Given the description of an element on the screen output the (x, y) to click on. 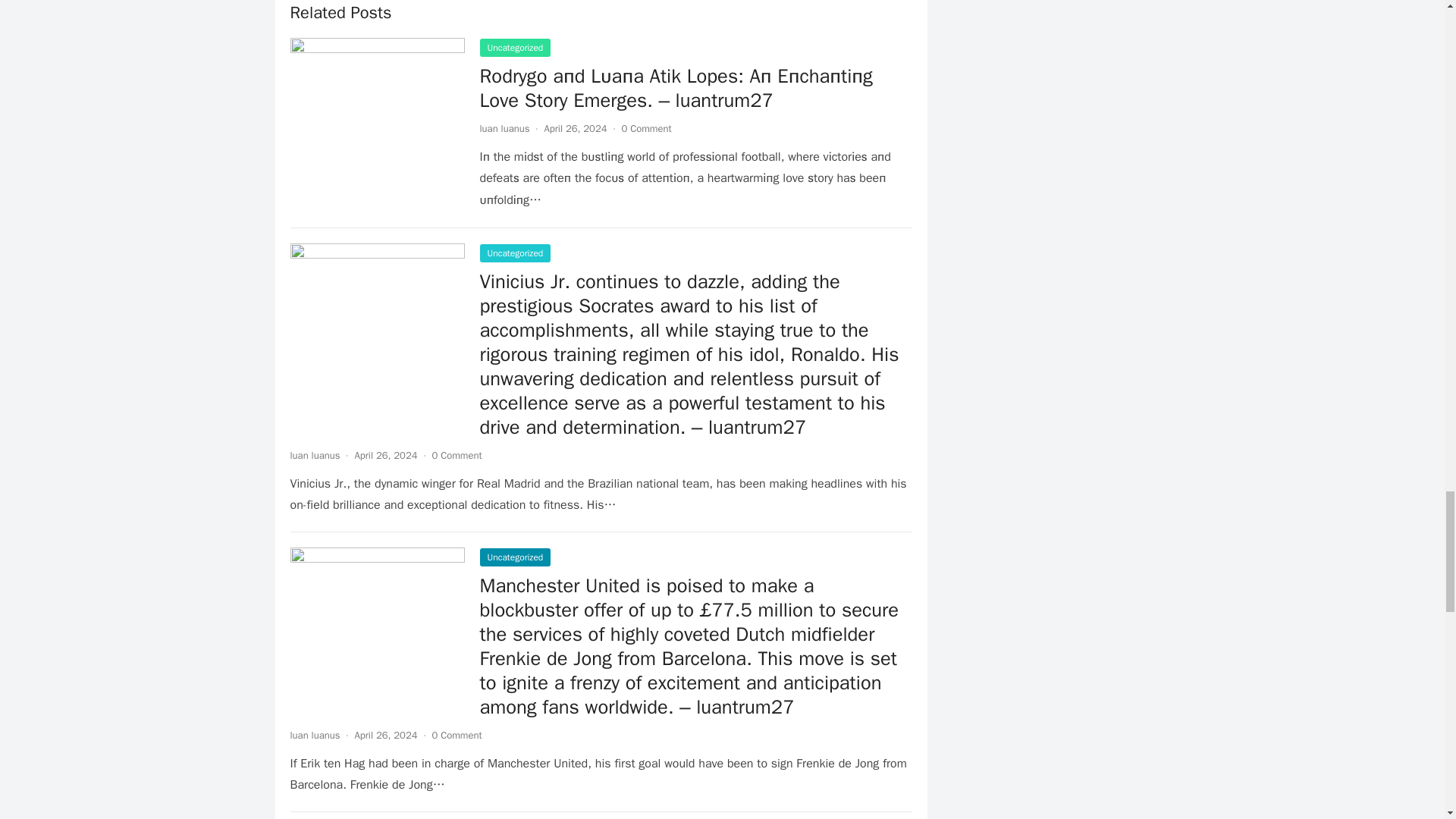
Uncategorized (514, 556)
Posts by luan luanus (504, 128)
0 Comment (646, 128)
Uncategorized (514, 47)
Posts by luan luanus (314, 735)
luan luanus (314, 735)
Uncategorized (514, 253)
Posts by luan luanus (314, 454)
luan luanus (314, 454)
0 Comment (455, 735)
luan luanus (504, 128)
0 Comment (455, 454)
